Given the description of an element on the screen output the (x, y) to click on. 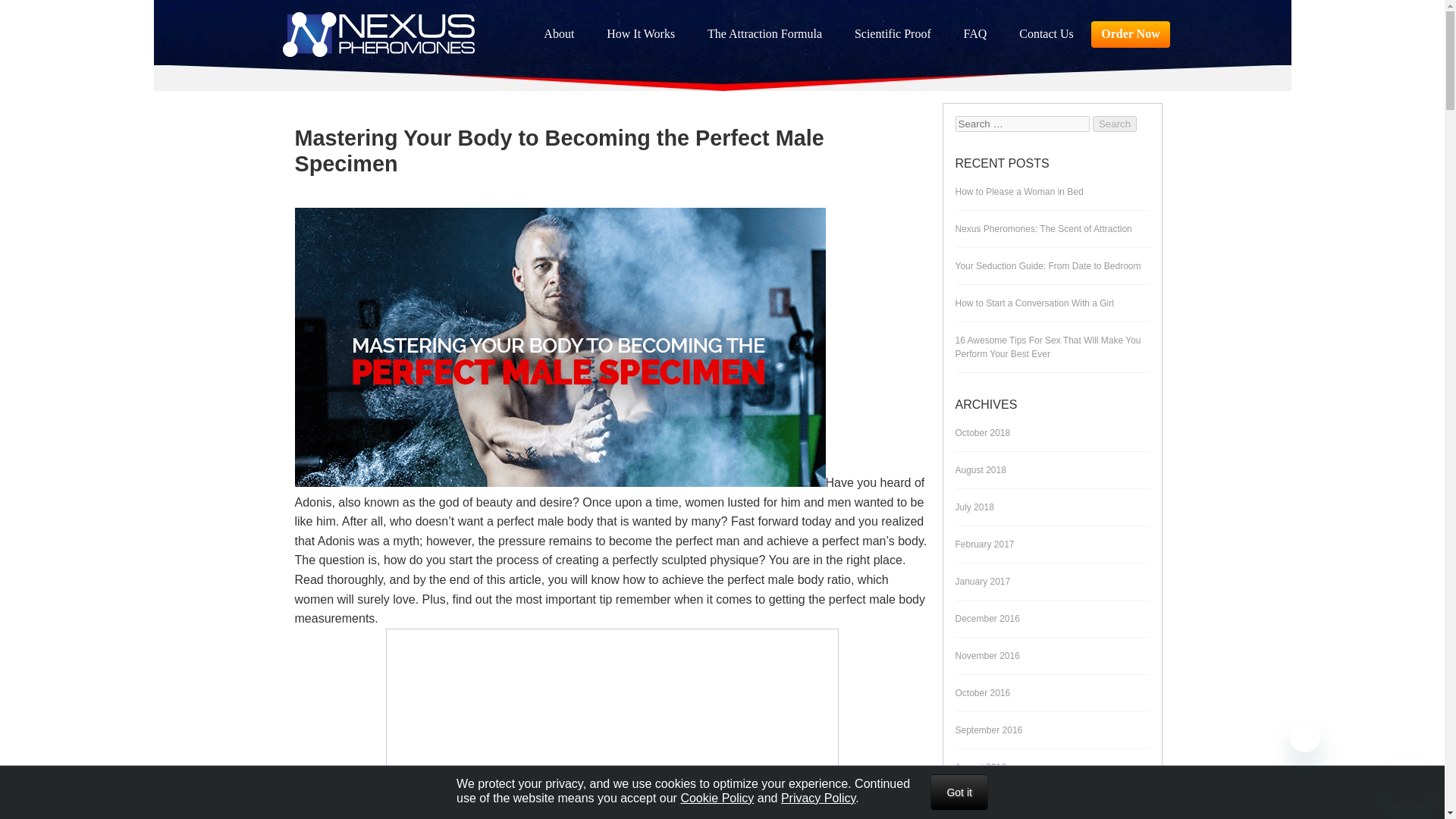
Mastering Your Body to Becoming the Perfect Male Specimen (559, 151)
November 2016 (987, 656)
August 2018 (980, 470)
Search (1115, 123)
July 2018 (974, 506)
How It Works (640, 34)
Nexus Pheromones: The Scent of Attraction (1043, 228)
January 2017 (982, 581)
The Attraction Formula (764, 34)
December 2016 (987, 618)
